Given the description of an element on the screen output the (x, y) to click on. 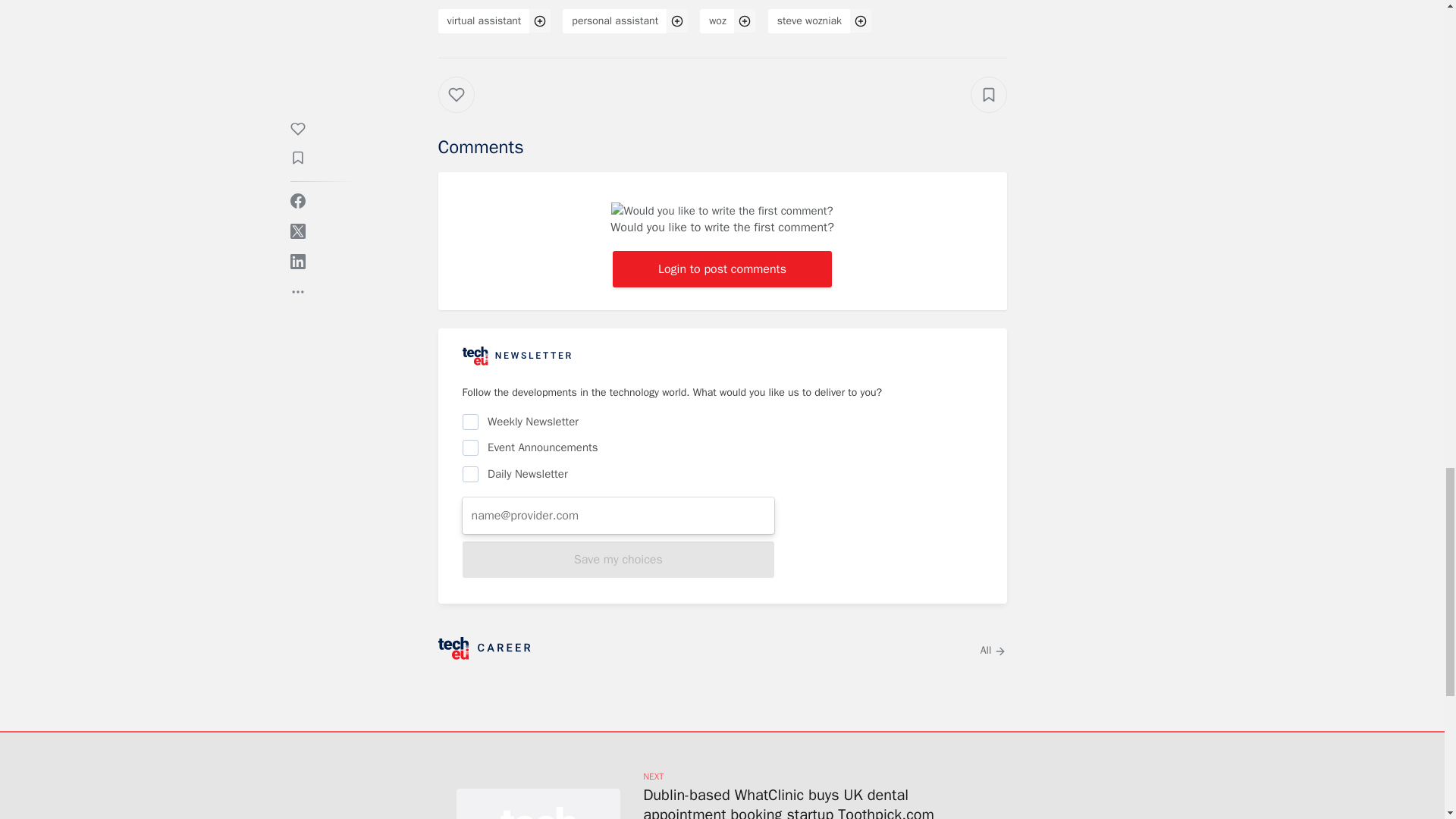
personal assistant (614, 21)
virtual assistant (484, 21)
woz (717, 21)
